Given the description of an element on the screen output the (x, y) to click on. 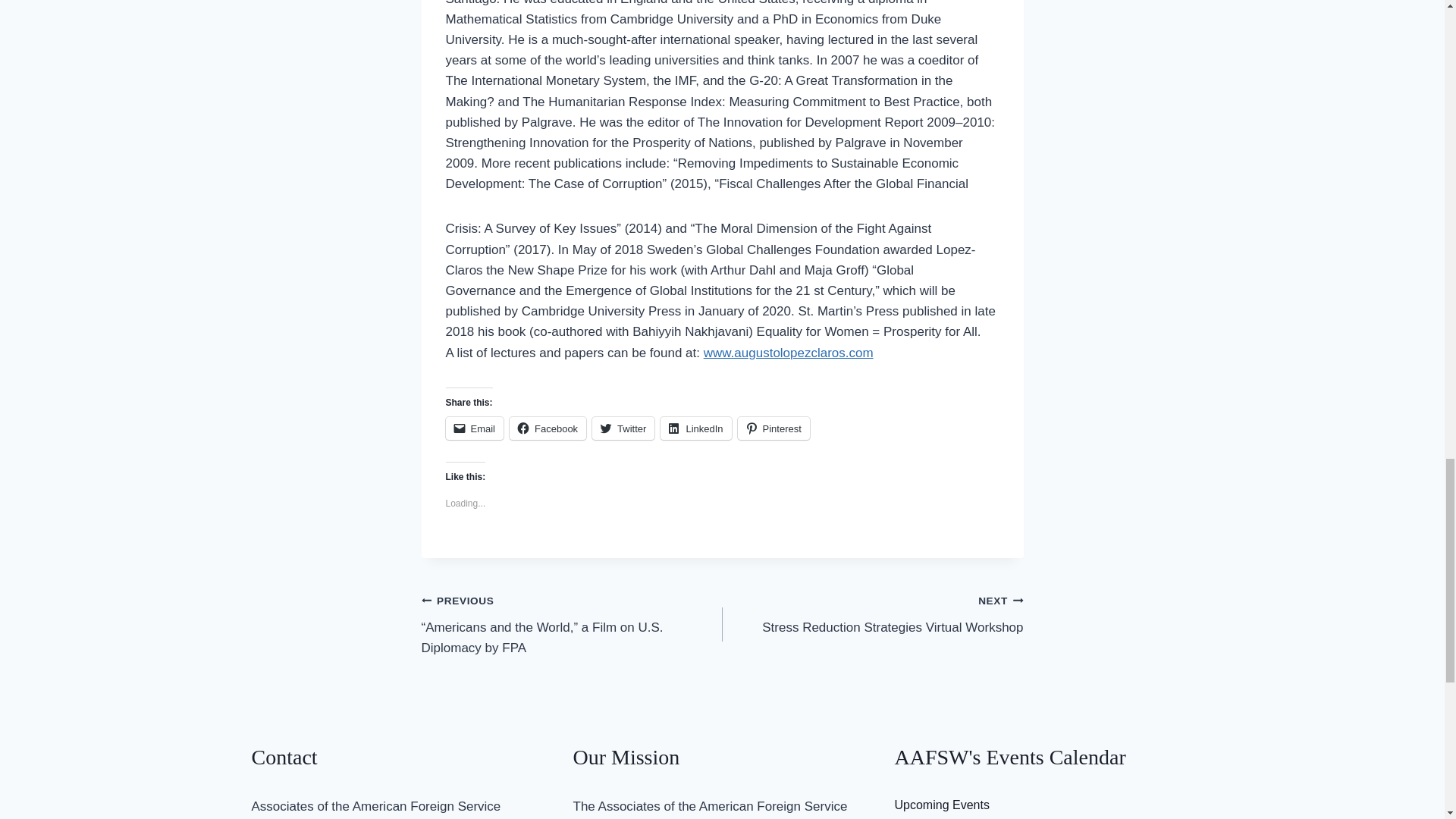
Click to share on LinkedIn (695, 427)
Click to share on Facebook (547, 427)
Click to share on Pinterest (773, 427)
Click to email a link to a friend (474, 427)
Click to share on Twitter (622, 427)
